Given the description of an element on the screen output the (x, y) to click on. 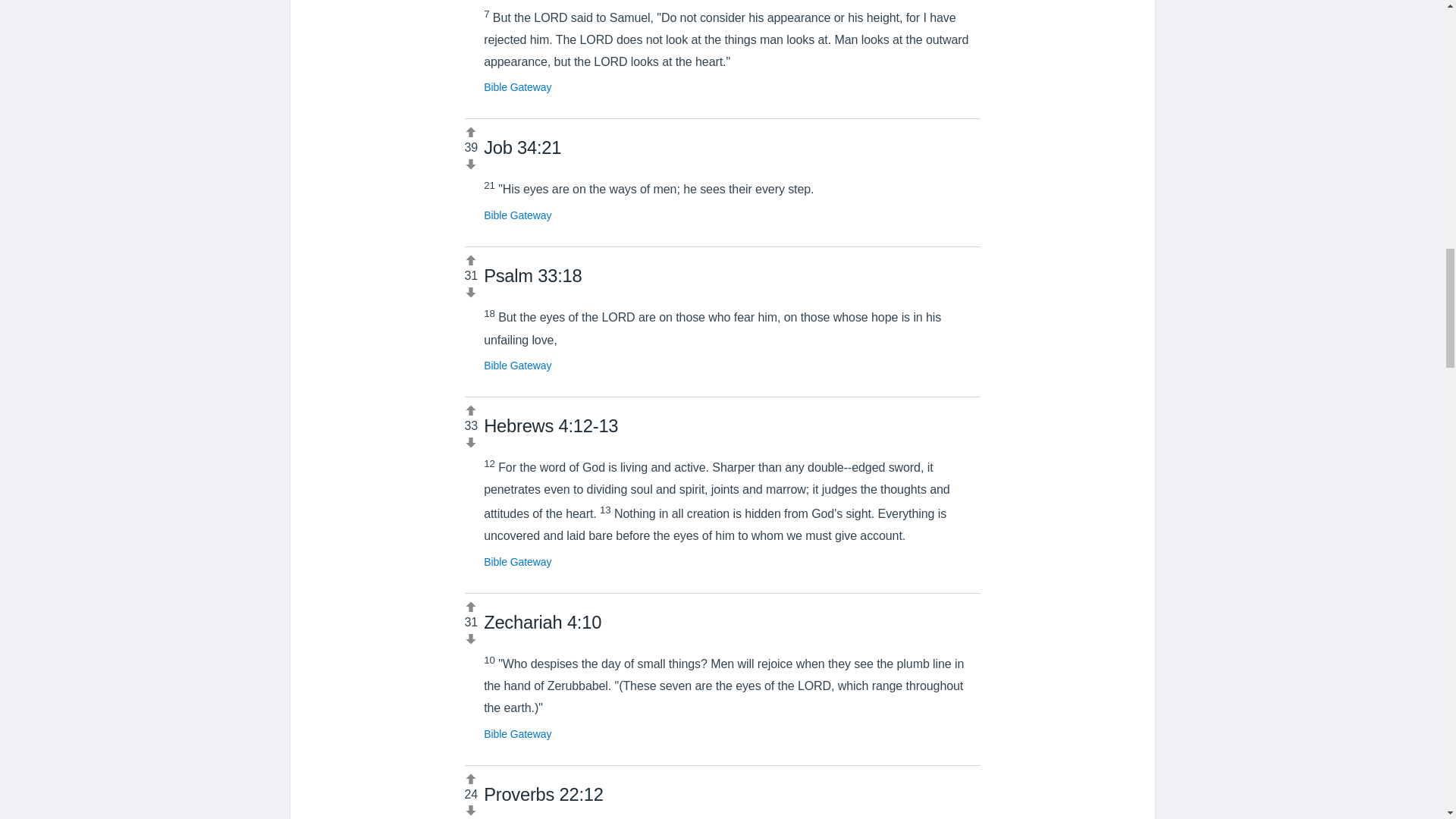
Bible Gateway (517, 562)
Bible Gateway (517, 734)
Bible Gateway (517, 87)
Bible Gateway (517, 215)
Bible Gateway (517, 365)
